Given the description of an element on the screen output the (x, y) to click on. 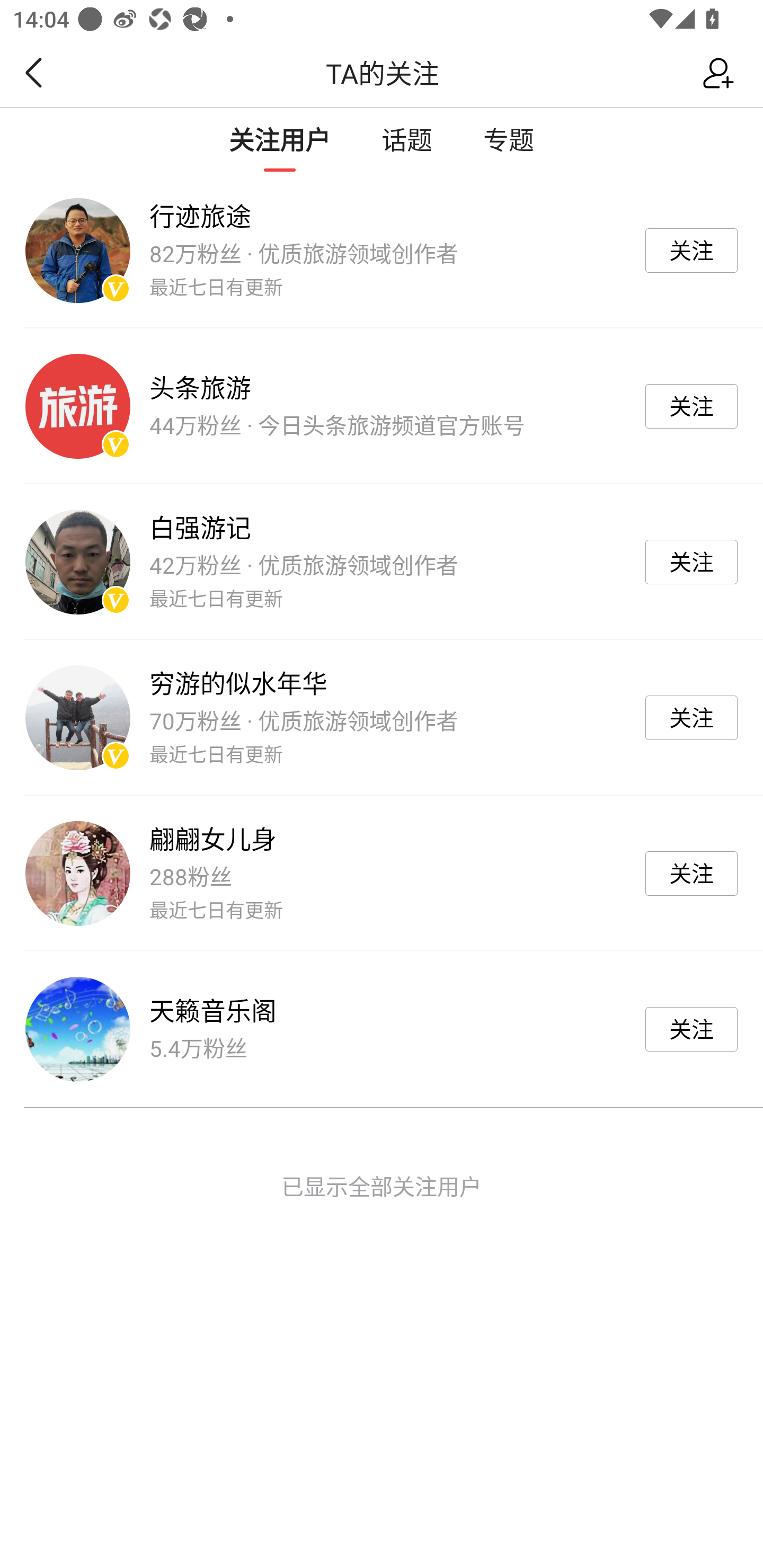
返回 (27, 72)
添加关注 (722, 72)
关注用户 (279, 139)
话题 (406, 139)
专题 (508, 139)
行迹旅途 82万粉丝 · 优质旅游领域创作者 最近七日有更新 关注 关注 (381, 249)
关注 (691, 250)
头条旅游 44万粉丝 · 今日头条旅游频道官方账号 关注 关注 (381, 405)
关注 (691, 406)
白强游记 42万粉丝 · 优质旅游领域创作者 最近七日有更新 关注 关注 (381, 561)
关注 (691, 561)
穷游的似水年华 70万粉丝 · 优质旅游领域创作者 最近七日有更新 关注 关注 (381, 716)
关注 (691, 718)
翩翩女儿身 288粉丝 最近七日有更新 关注 关注 (381, 872)
关注 (691, 873)
天籁音乐阁 5.4万粉丝 关注 关注 (381, 1029)
关注 (691, 1029)
